Given the description of an element on the screen output the (x, y) to click on. 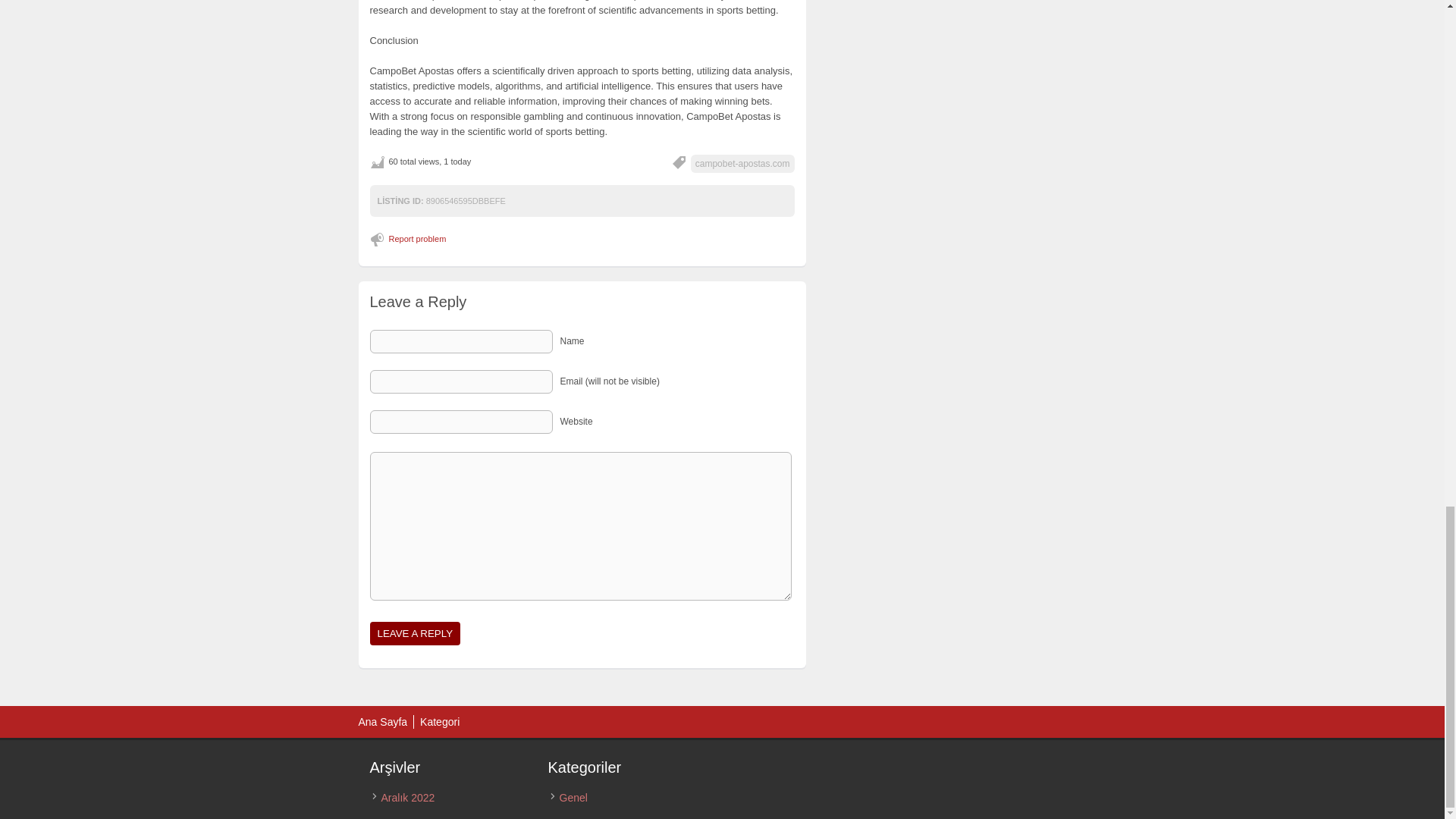
Leave a Reply (415, 633)
Report problem (409, 238)
Ana Sayfa (382, 721)
Kategori (440, 721)
Leave a Reply (415, 633)
campobet-apostas.com (742, 163)
